Given the description of an element on the screen output the (x, y) to click on. 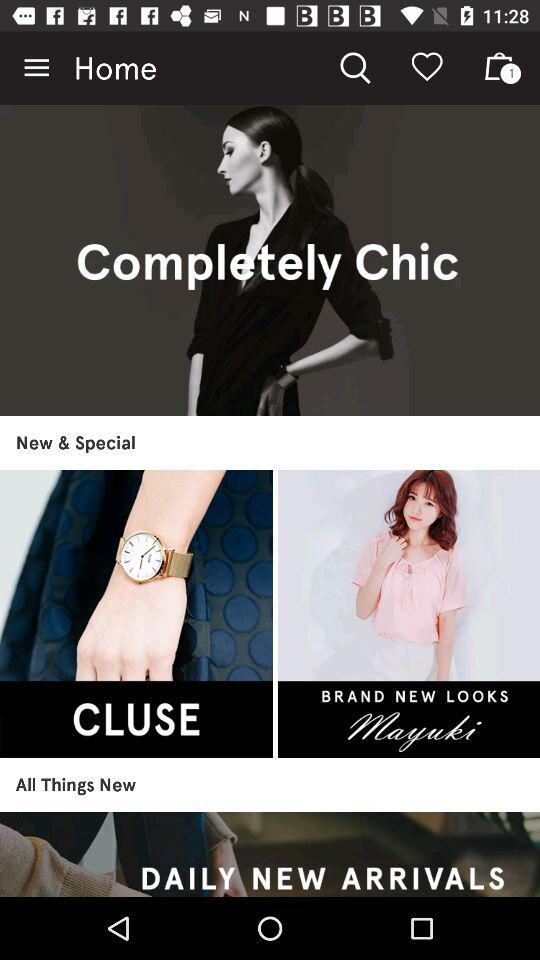
turn off the icon to the left of the home item (36, 68)
